Given the description of an element on the screen output the (x, y) to click on. 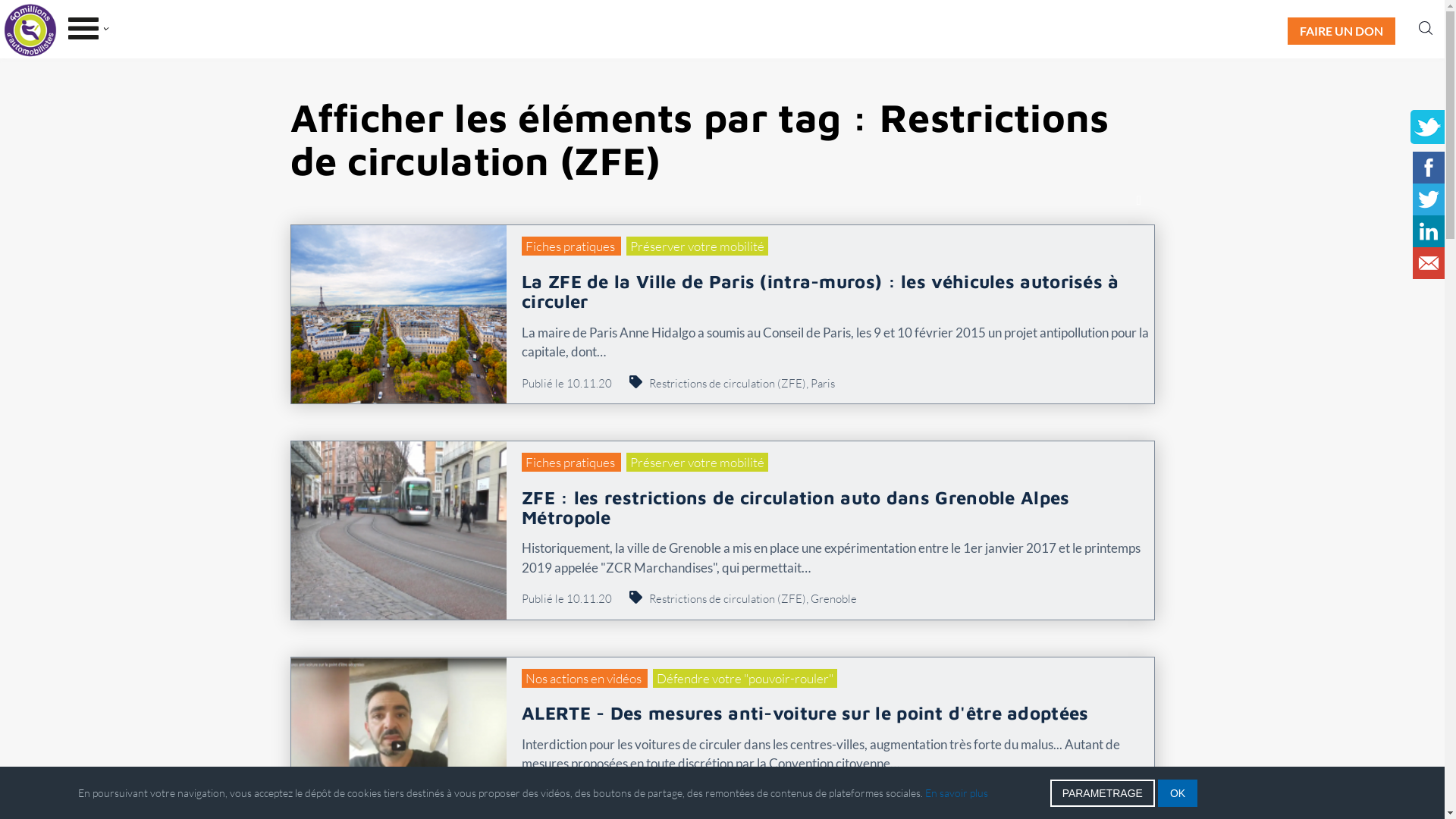
Paris Element type: text (822, 383)
Restrictions de circulation (ZFE) Element type: text (727, 383)
Fiches pratiques Element type: text (571, 461)
PARAMETRAGE Element type: text (1102, 792)
Budget auto Element type: text (905, 794)
Fiches pratiques Element type: text (571, 245)
Bonus malus Element type: text (679, 794)
FAIRE UN DON Element type: text (1341, 30)
En savoir plus Element type: text (956, 792)
Restrictions de circulation (ZFE) Element type: text (727, 598)
Grenoble Element type: text (833, 598)
Restrictions de circulation (ZFE) Element type: text (792, 794)
40 Millions d'automobilistes Element type: hover (28, 30)
OK Element type: text (1177, 792)
